Given the description of an element on the screen output the (x, y) to click on. 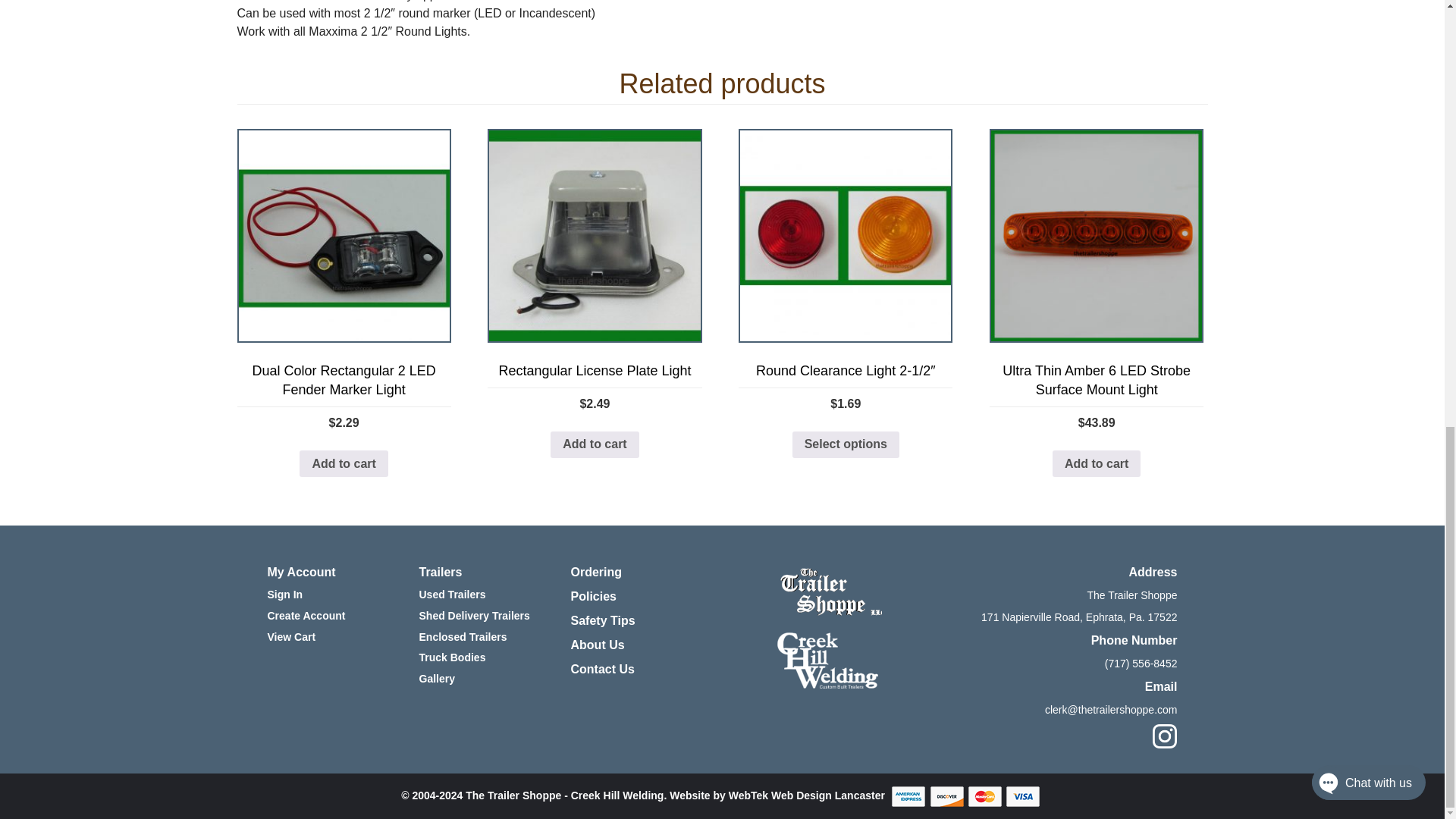
Ultra Thin Amber 6 LED Strobe Surface Mount Light (1097, 235)
Rectangular License Plate Light (594, 235)
Dual Color Rectangular 2 LED Fender Marker Light (342, 235)
